Given the description of an element on the screen output the (x, y) to click on. 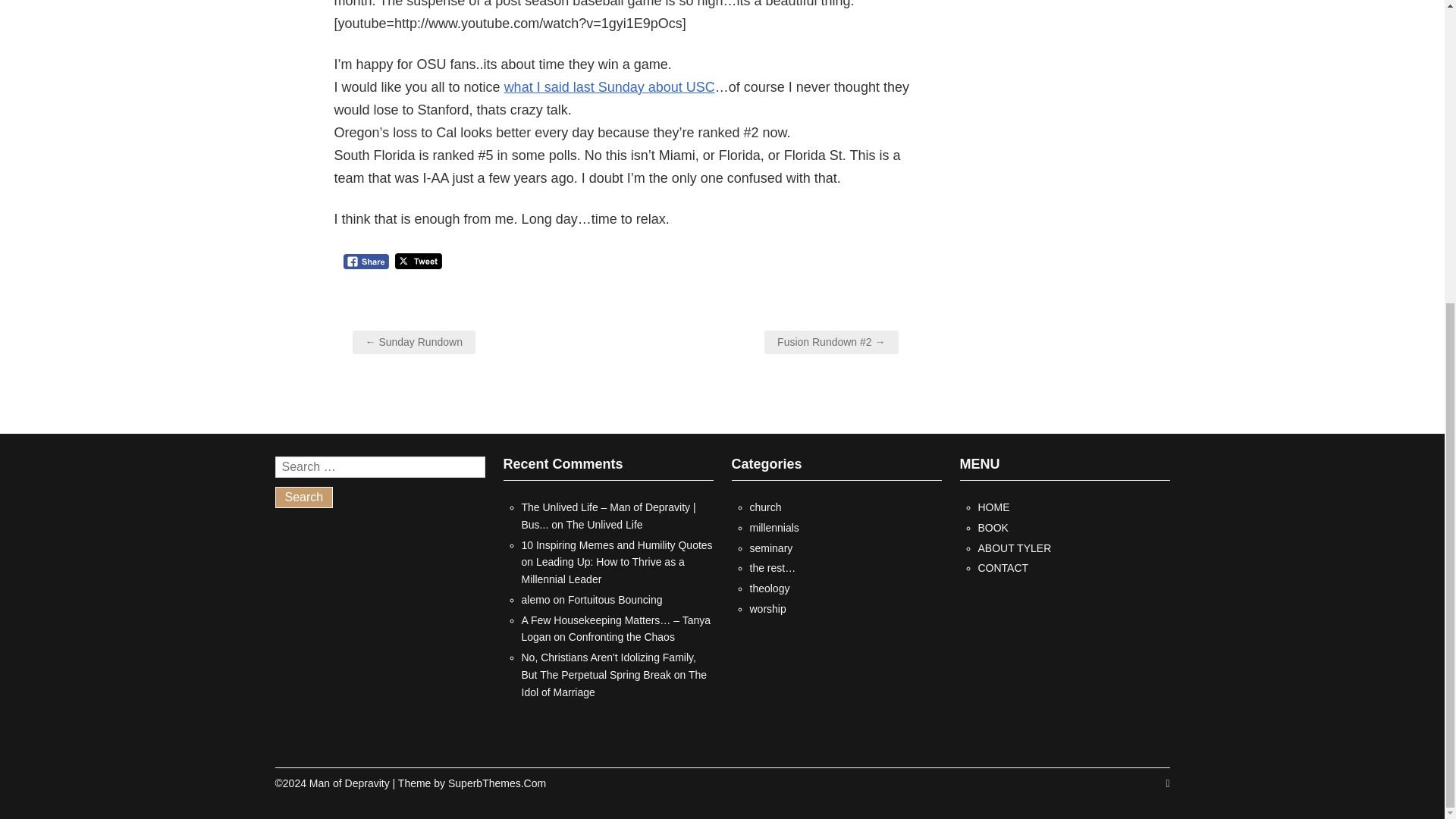
CONTACT (1003, 567)
Fortuitous Bouncing (614, 599)
what I said last Sunday about USC (608, 87)
Theology (769, 588)
seminary (770, 548)
The Unlived Life (604, 524)
HOME (994, 507)
Tweet (418, 261)
